Given the description of an element on the screen output the (x, y) to click on. 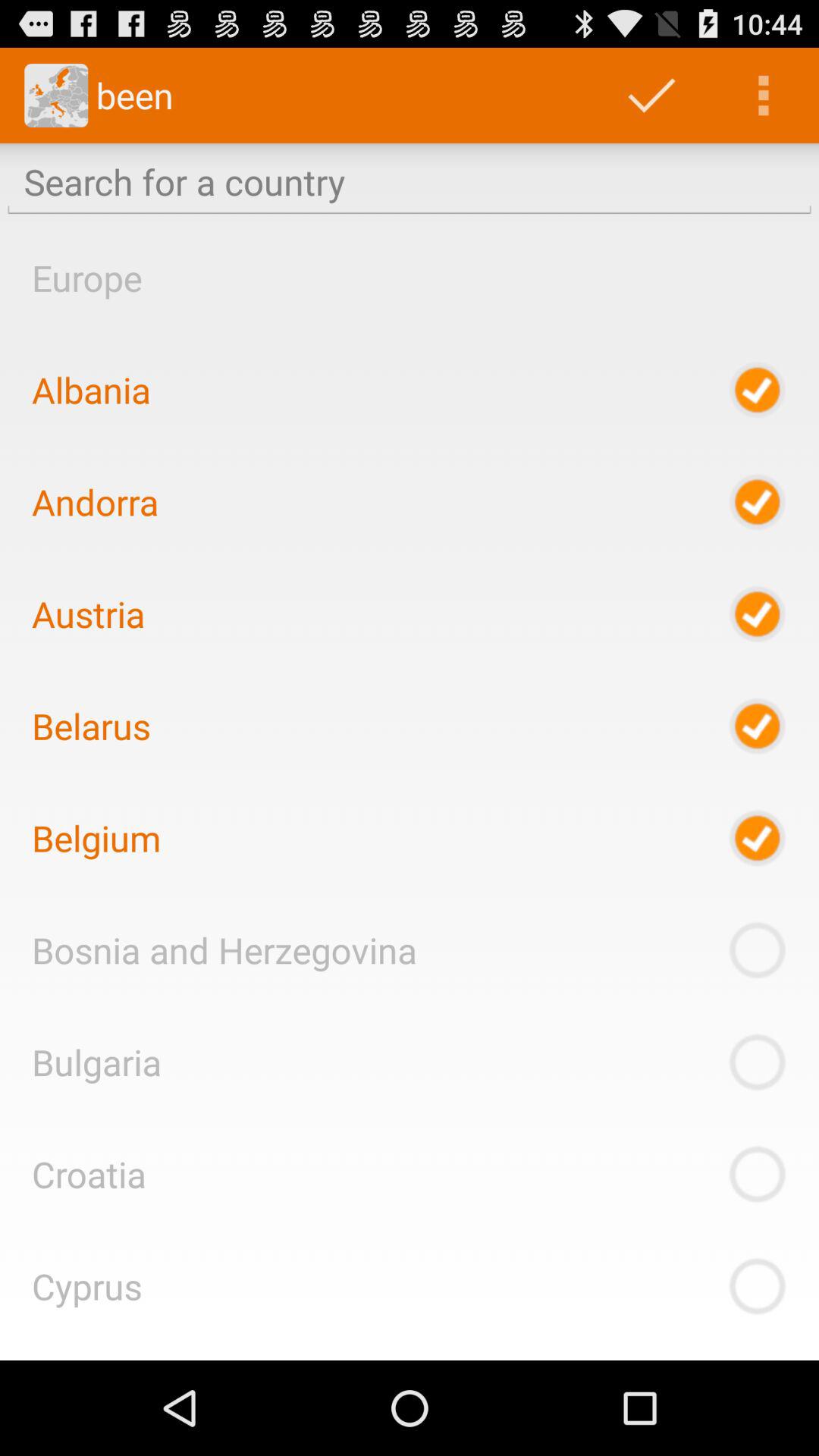
open europe (86, 277)
